Given the description of an element on the screen output the (x, y) to click on. 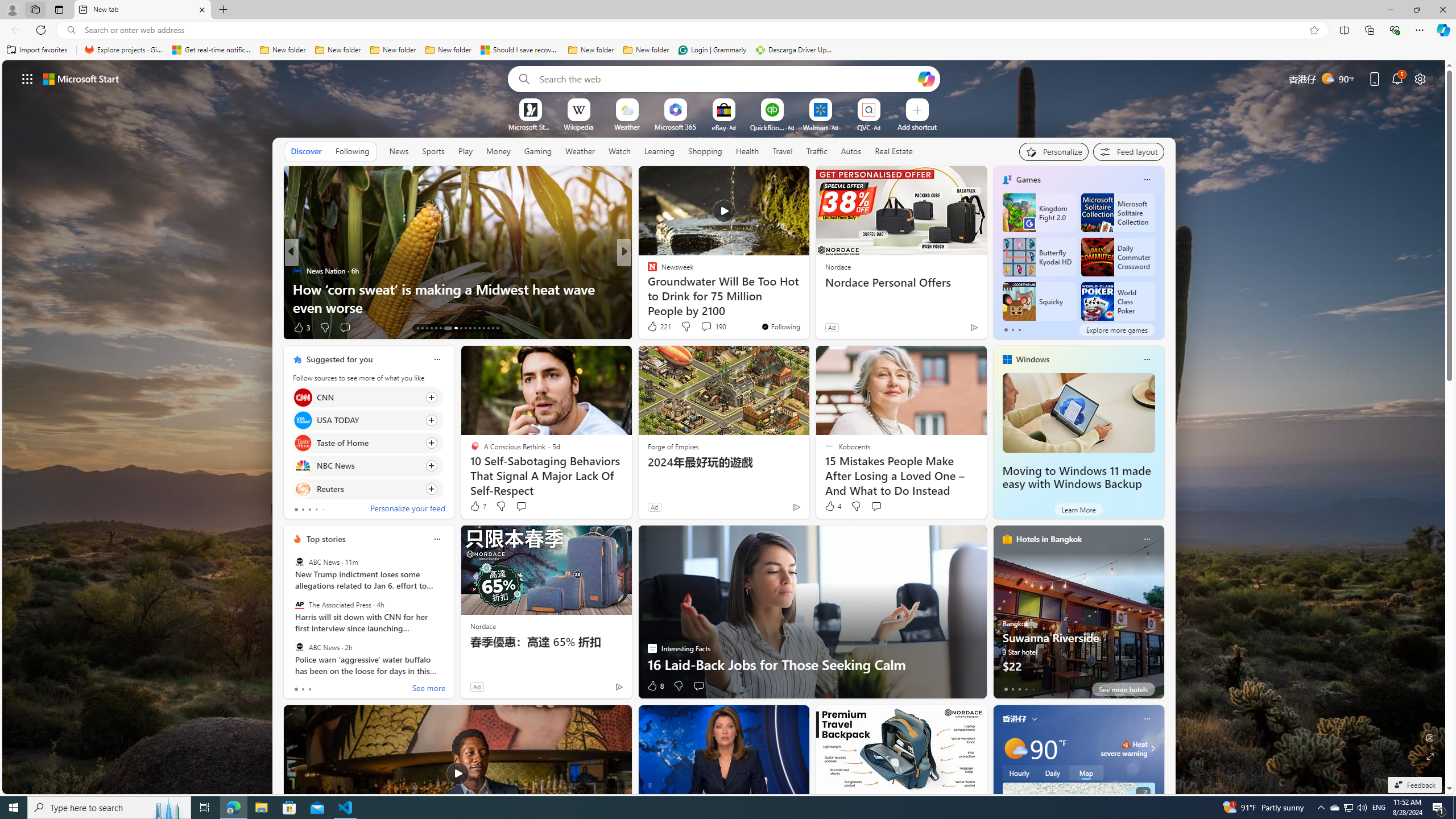
Address and search bar (692, 29)
68 Like (652, 327)
tab-1 (1012, 689)
Split screen (1344, 29)
Autos (851, 151)
Money (498, 151)
AutomationID: tab-27 (488, 328)
New Tab (223, 9)
Microsoft 365 (675, 126)
AutomationID: tab-22 (465, 328)
Heat - Severe (1126, 743)
